Given the description of an element on the screen output the (x, y) to click on. 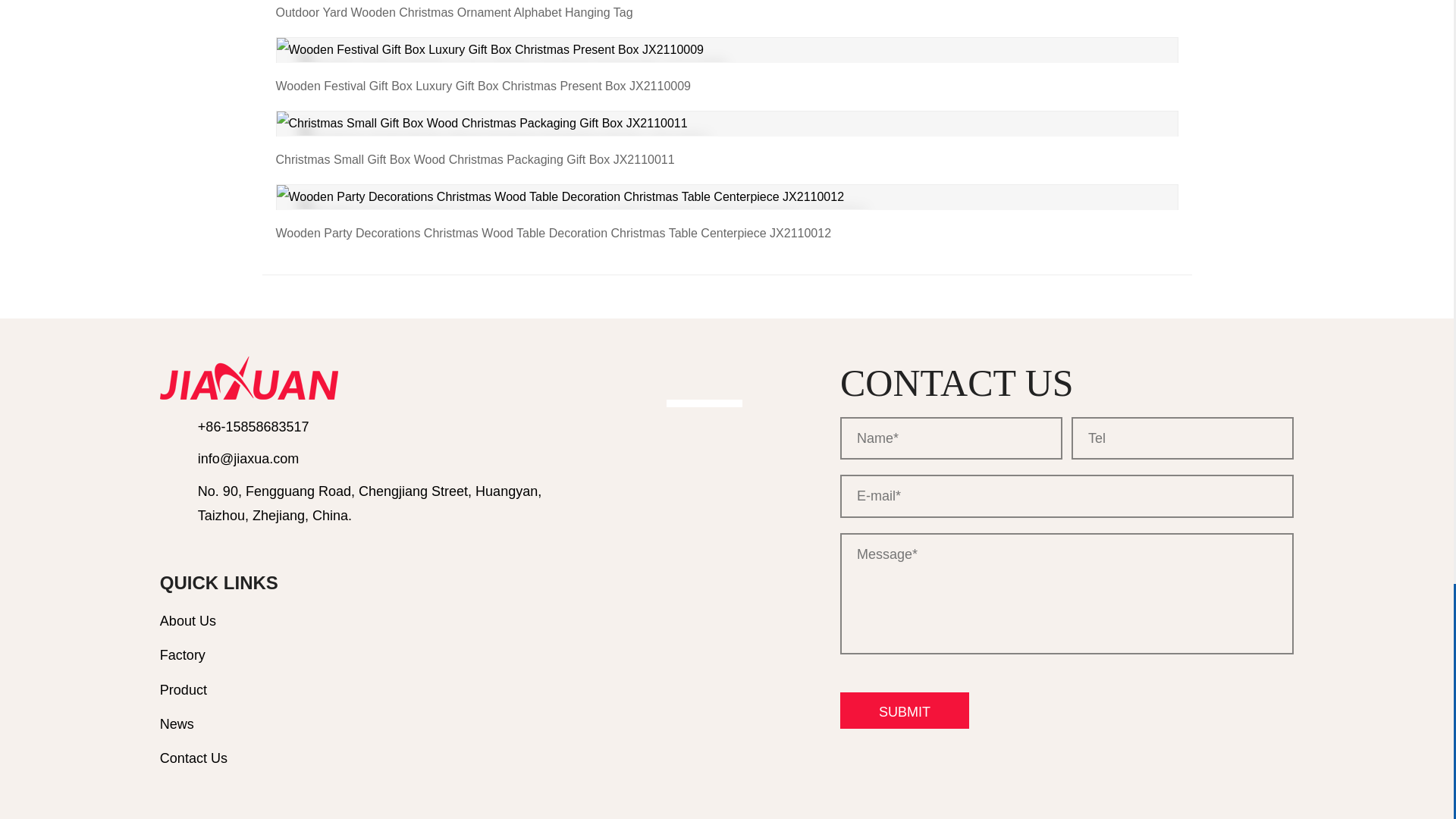
submit (904, 710)
